Given the description of an element on the screen output the (x, y) to click on. 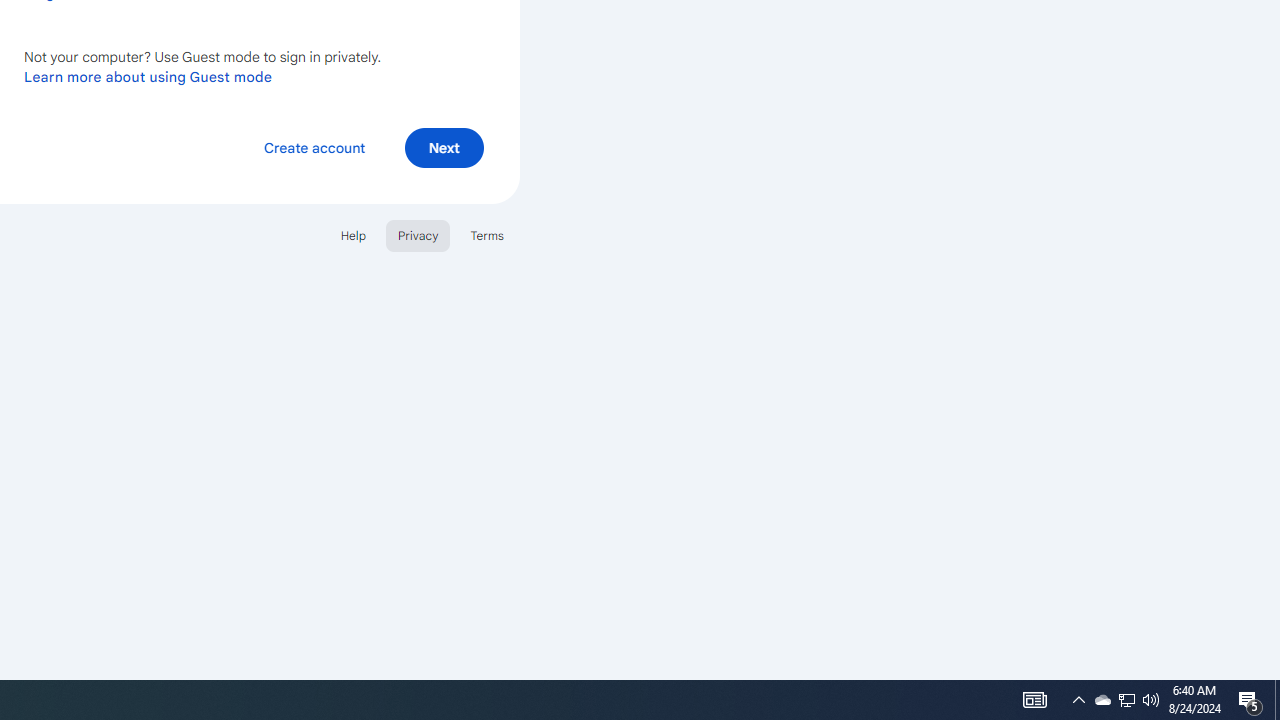
Next (443, 146)
Learn more about using Guest mode (148, 76)
Create account (314, 146)
